Given the description of an element on the screen output the (x, y) to click on. 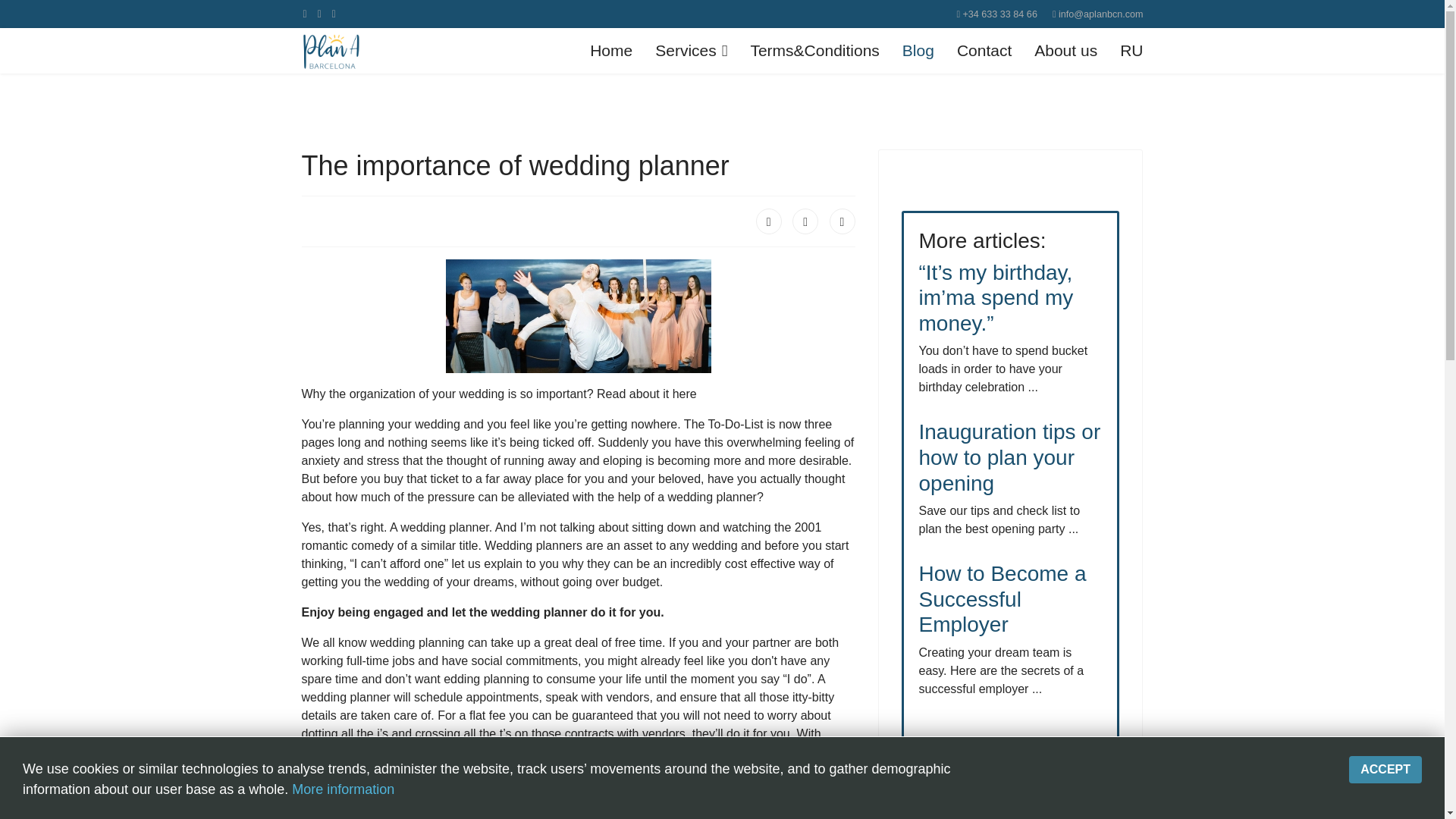
Contact (983, 50)
LinkedIn (842, 221)
Services (690, 50)
Plan A - event planner in Barcelona and Valencia (610, 50)
Facebook (768, 221)
Twitter (805, 221)
Blog (917, 50)
Inauguration tips or how to plan your opening  (1009, 457)
Blog (917, 50)
Contact (983, 50)
